Given the description of an element on the screen output the (x, y) to click on. 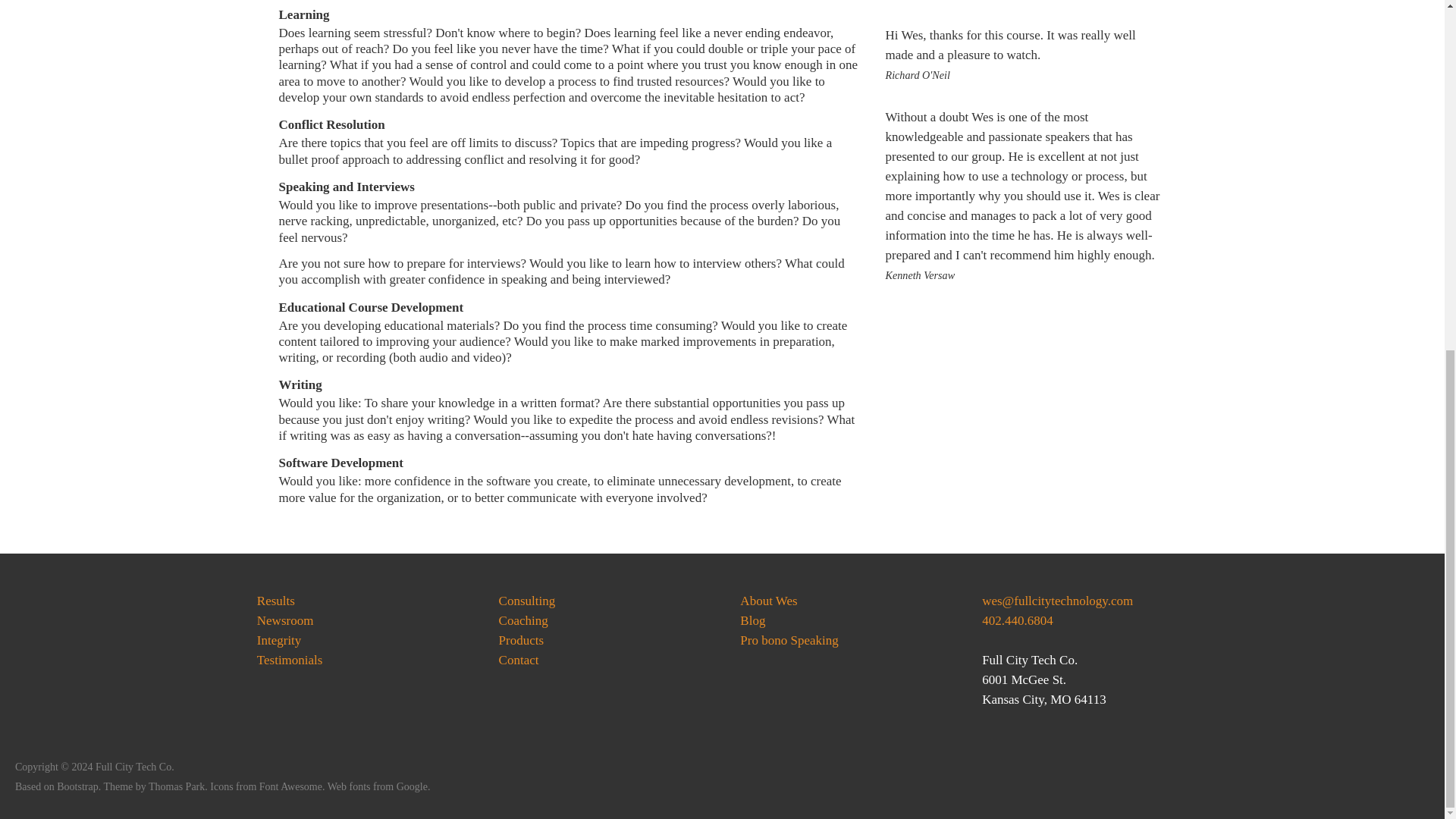
Results (276, 600)
Products (521, 640)
Blog (752, 620)
402.440.6804 (1016, 620)
Contact (518, 659)
Integrity (279, 640)
Coaching (523, 620)
About Wes (767, 600)
Testimonials (290, 659)
Newsroom (285, 620)
Consulting (527, 600)
Pro bono Speaking (788, 640)
